Given the description of an element on the screen output the (x, y) to click on. 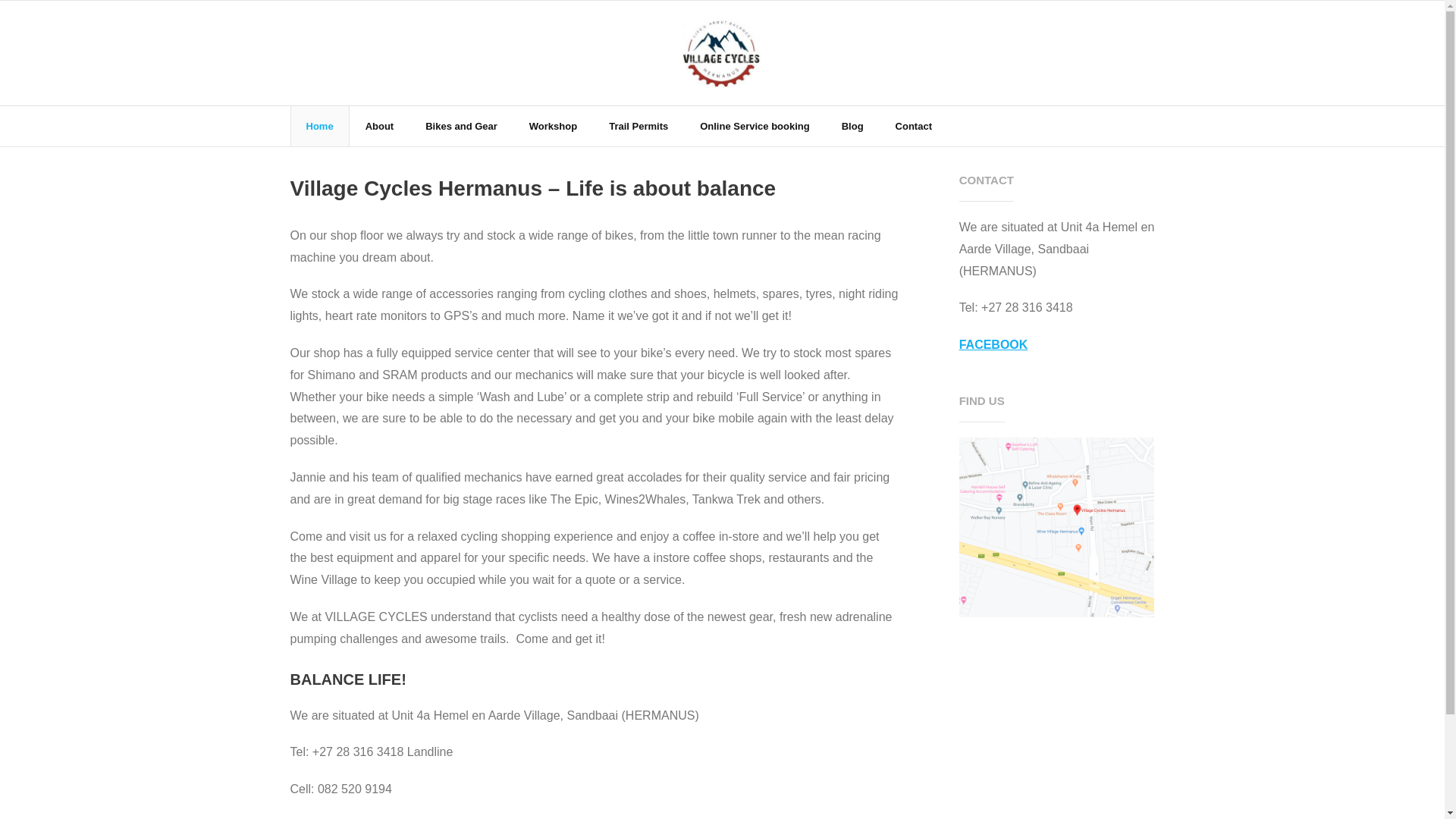
Online Service booking (754, 126)
Find us (1056, 527)
Home (319, 126)
FACEBOOK (993, 344)
Contact (913, 126)
Trail Permits (638, 126)
Blog (852, 126)
Bikes and Gear (461, 126)
Workshop (552, 126)
About (379, 126)
